Given the description of an element on the screen output the (x, y) to click on. 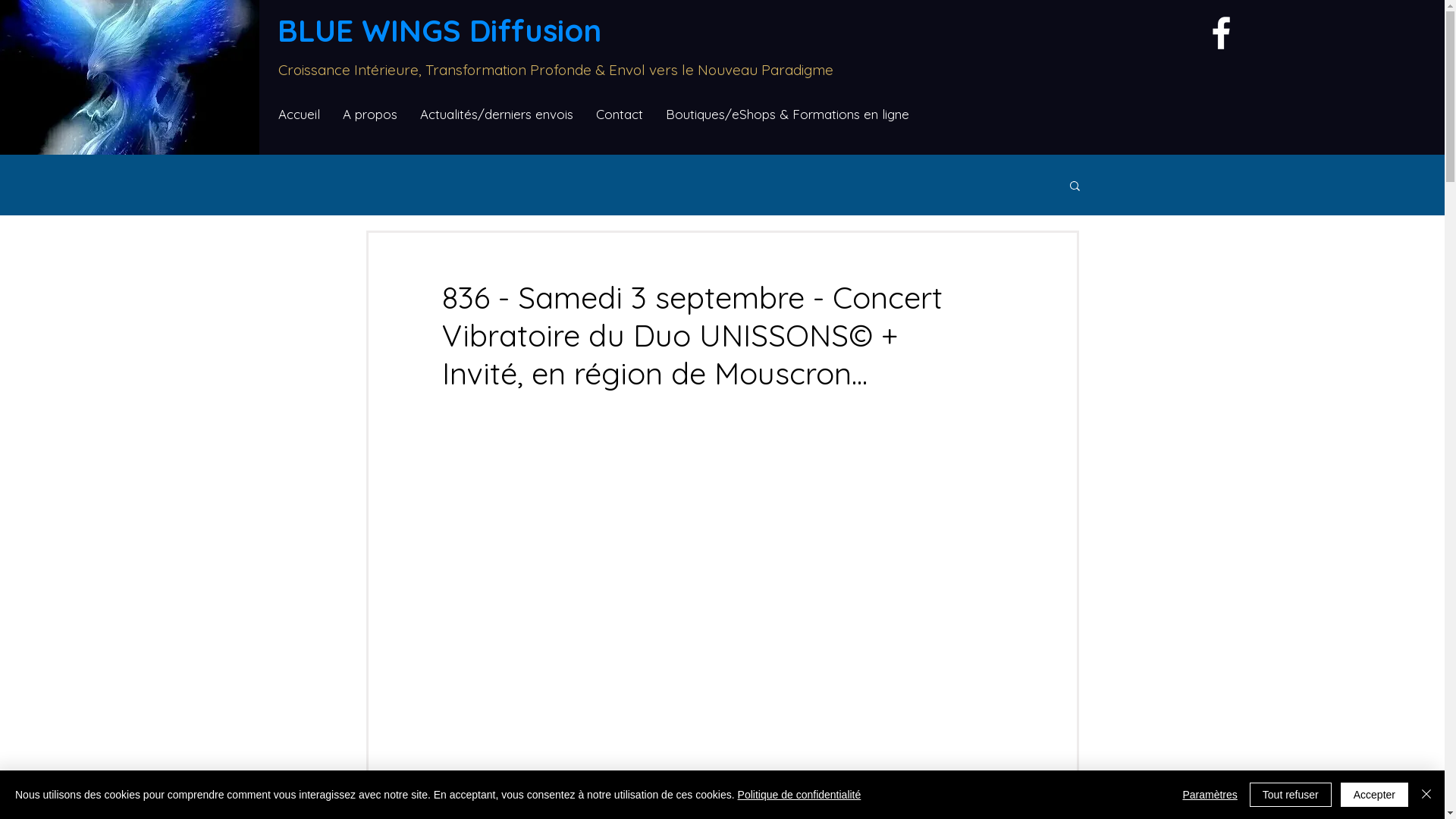
Tout refuser Element type: text (1290, 794)
Contact Element type: text (619, 114)
Accepter Element type: text (1374, 794)
BLUE WINGS Diffusion Element type: text (439, 30)
A propos Element type: text (369, 114)
Accueil Element type: text (298, 114)
